Given the description of an element on the screen output the (x, y) to click on. 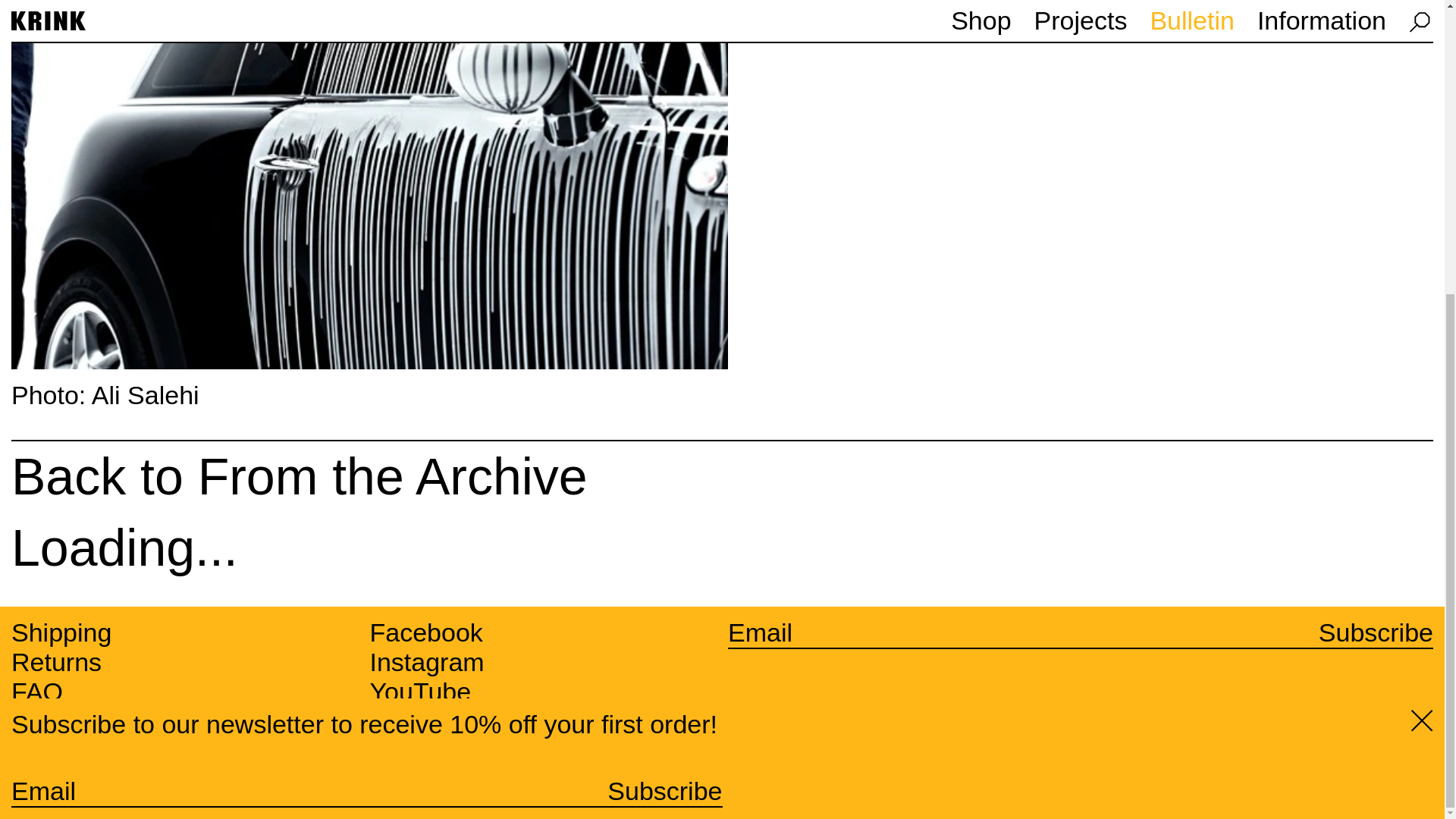
Subscribe (1375, 632)
Back to From the Archive (721, 482)
Shipping (61, 632)
Account (416, 743)
Returns (56, 662)
Subscribe (664, 340)
Subscribe (664, 340)
Facebook (426, 632)
YouTube (420, 691)
Instagram (426, 662)
